Given the description of an element on the screen output the (x, y) to click on. 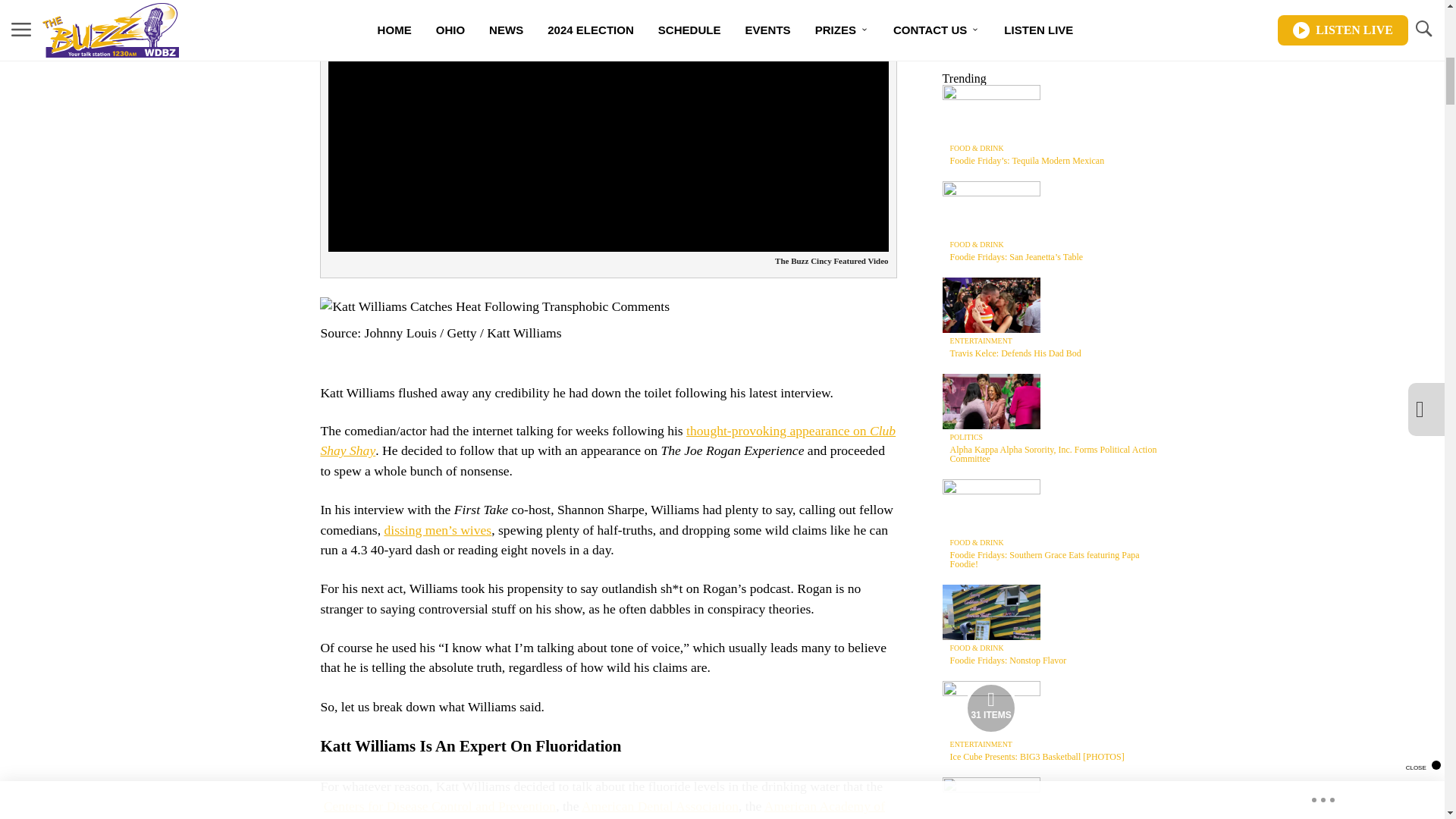
American Dental Association (659, 806)
American Academy of Family Physicians (602, 808)
Centers for Disease Control and Prevention (439, 806)
Media Playlist (990, 707)
thought-provoking appearance on Club Shay Shay (607, 440)
